Given the description of an element on the screen output the (x, y) to click on. 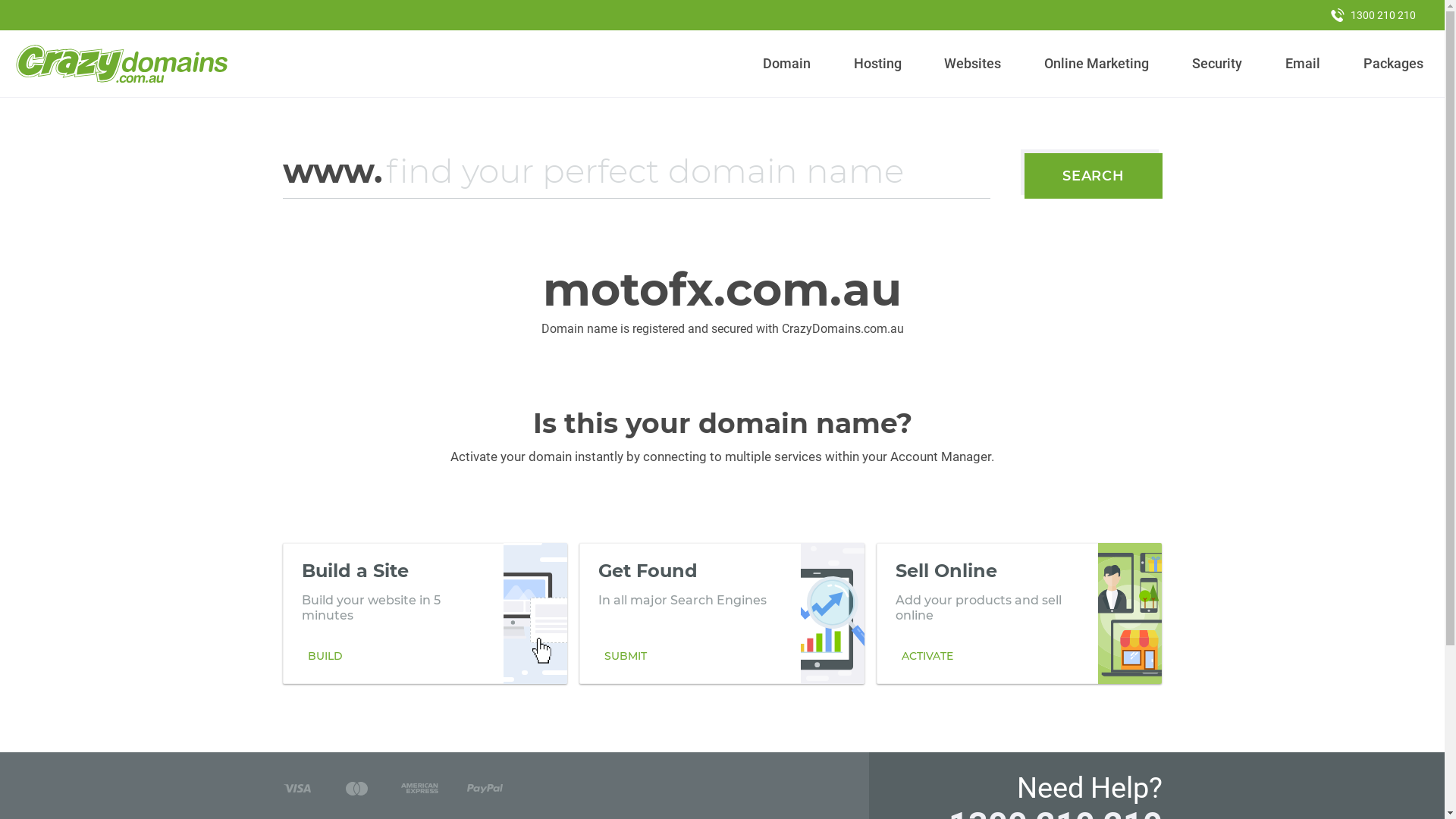
Domain Element type: text (786, 63)
Websites Element type: text (972, 63)
Online Marketing Element type: text (1096, 63)
Hosting Element type: text (877, 63)
1300 210 210 Element type: text (1373, 15)
Packages Element type: text (1392, 63)
Security Element type: text (1217, 63)
Build a Site
Build your website in 5 minutes
BUILD Element type: text (424, 613)
Get Found
In all major Search Engines
SUBMIT Element type: text (721, 613)
Email Element type: text (1302, 63)
SEARCH Element type: text (1092, 175)
Sell Online
Add your products and sell online
ACTIVATE Element type: text (1018, 613)
